Given the description of an element on the screen output the (x, y) to click on. 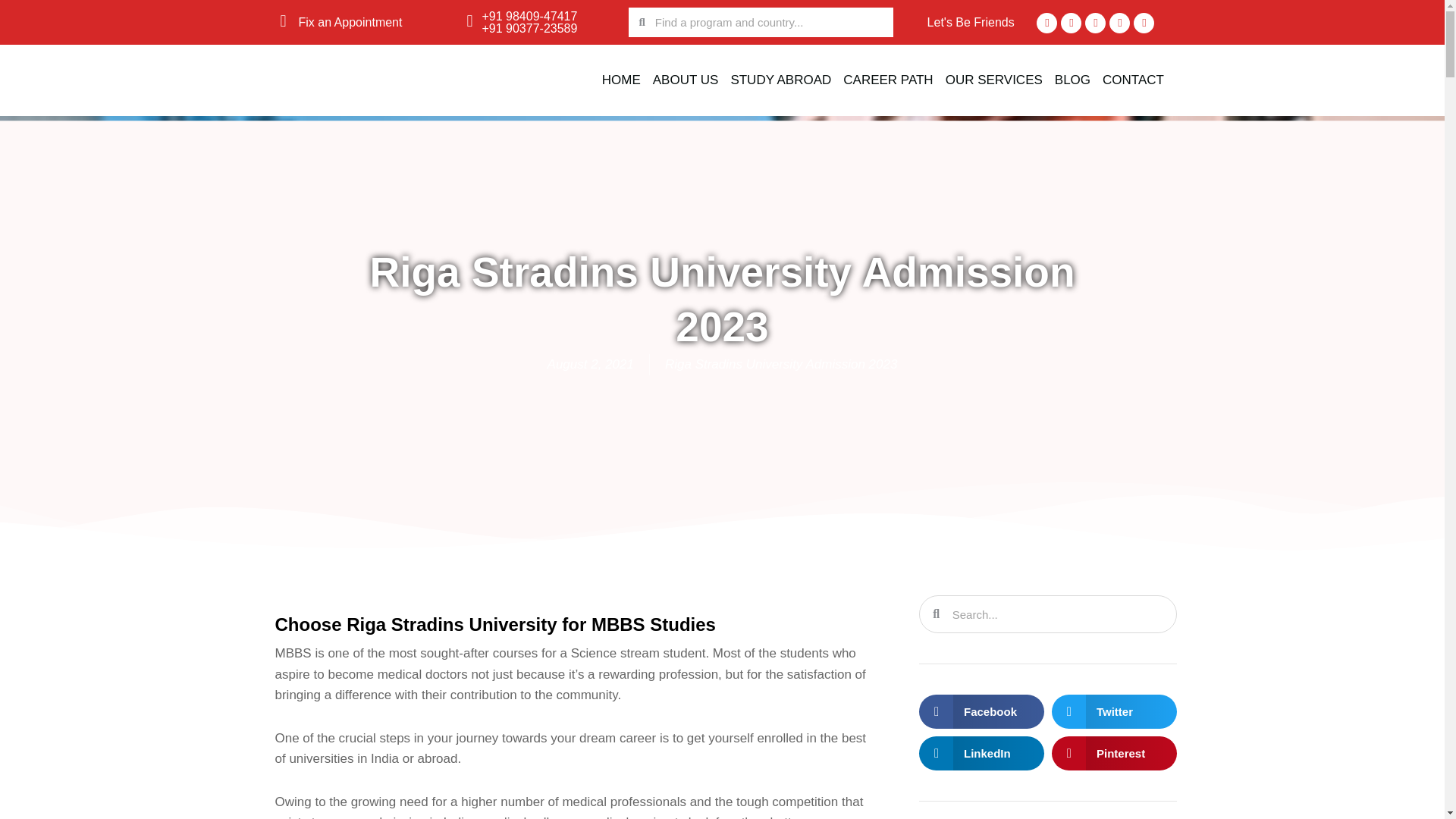
Youtube (1094, 22)
Facebook (1046, 22)
Twitter (1071, 22)
Linkedin (1144, 22)
CAREER PATH (888, 80)
HOME (620, 80)
Fix an Appointment (349, 21)
OUR SERVICES (993, 80)
Instagram (1119, 22)
STUDY ABROAD (780, 80)
ABOUT US (685, 80)
